Given the description of an element on the screen output the (x, y) to click on. 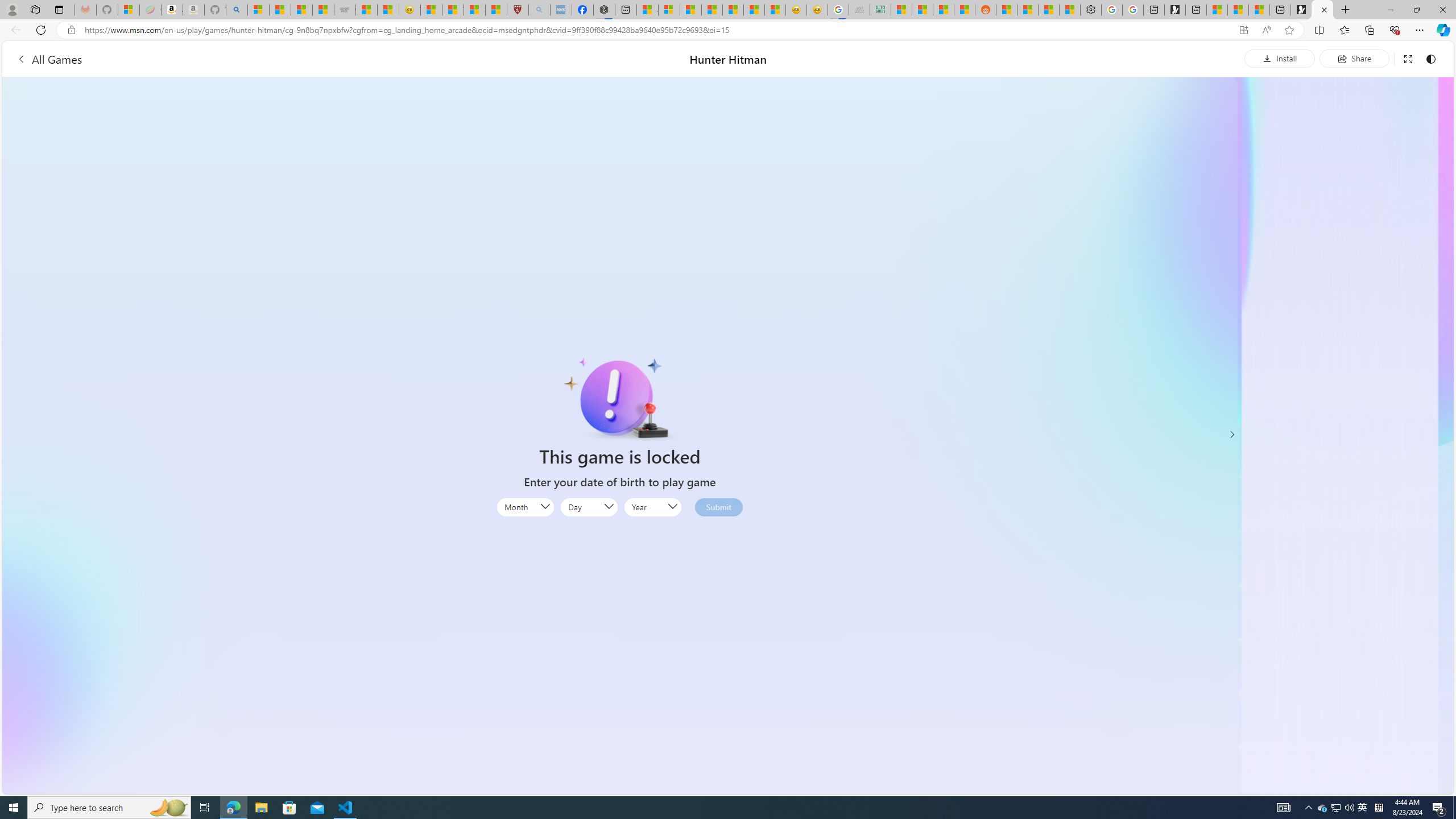
Workspaces (34, 9)
New tab (1280, 9)
App available. Install Hunter Hitman (1243, 29)
Read aloud this page (Ctrl+Shift+U) (1266, 29)
Year (652, 506)
Full screen (1407, 58)
Microsoft Start Gaming (1174, 9)
